Given the description of an element on the screen output the (x, y) to click on. 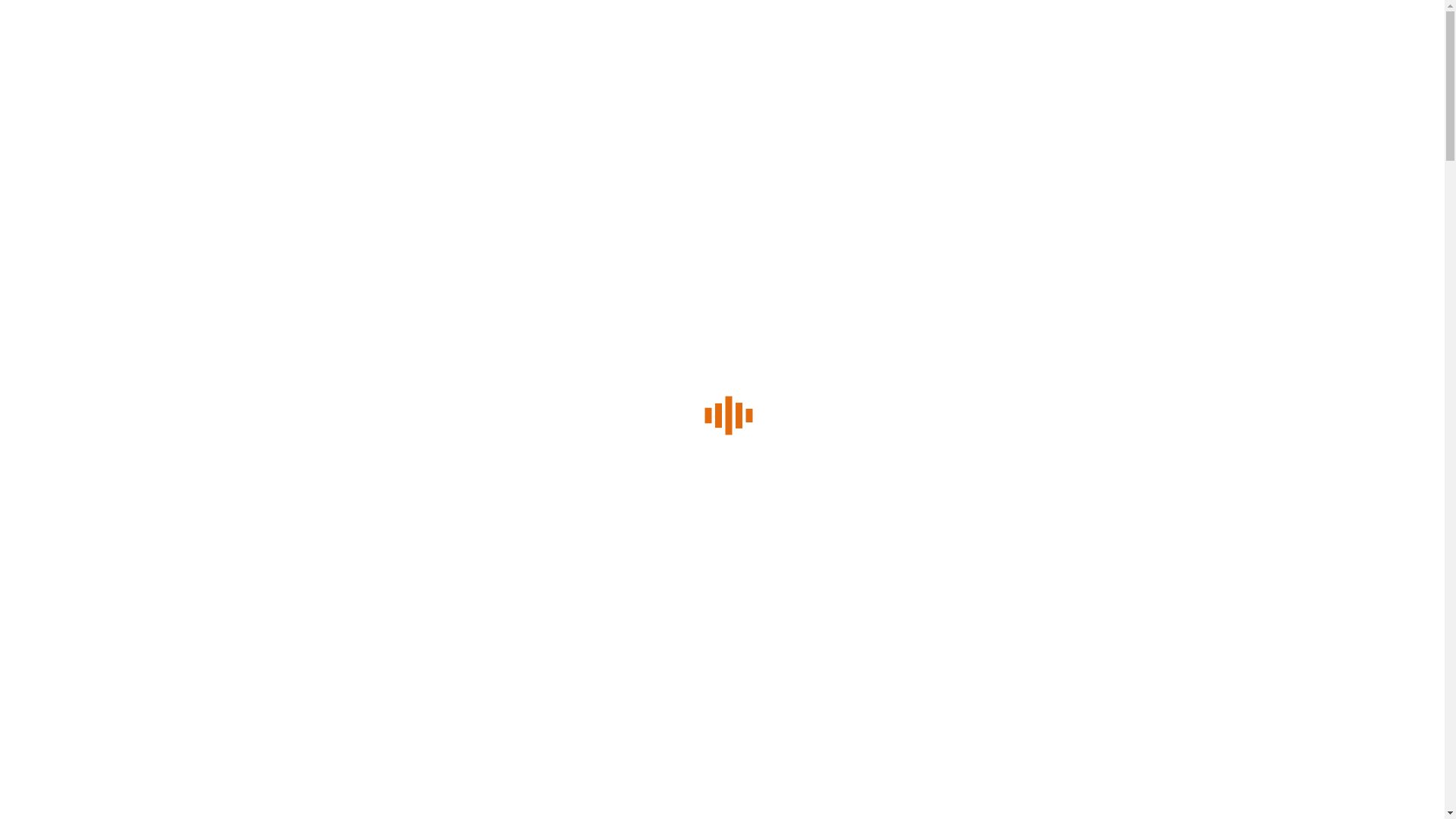
Uplifting Communities Element type: text (136, 272)
View Cart Element type: text (45, 491)
Eco-Friendly Element type: text (68, 701)
Beauty & Health Element type: text (77, 660)
Skin Care Element type: text (61, 680)
Gifts Element type: text (63, 334)
Contact Us Element type: text (79, 395)
Home Element type: text (51, 639)
Instagram Element type: text (158, 56)
Home Element type: text (66, 170)
Our Journey Element type: text (112, 211)
Products Element type: text (73, 313)
 0 Element type: text (31, 459)
Blog Element type: text (62, 375)
Skip to content Element type: text (722, 16)
Our Values Element type: text (109, 231)
What We Do Element type: text (83, 293)
Twitter Element type: text (104, 56)
Facebook Element type: text (51, 56)
Hospitality Element type: text (77, 354)
Our Promise Element type: text (113, 252)
Checkout Element type: text (94, 491)
Who We Are Element type: text (83, 191)
